Given the description of an element on the screen output the (x, y) to click on. 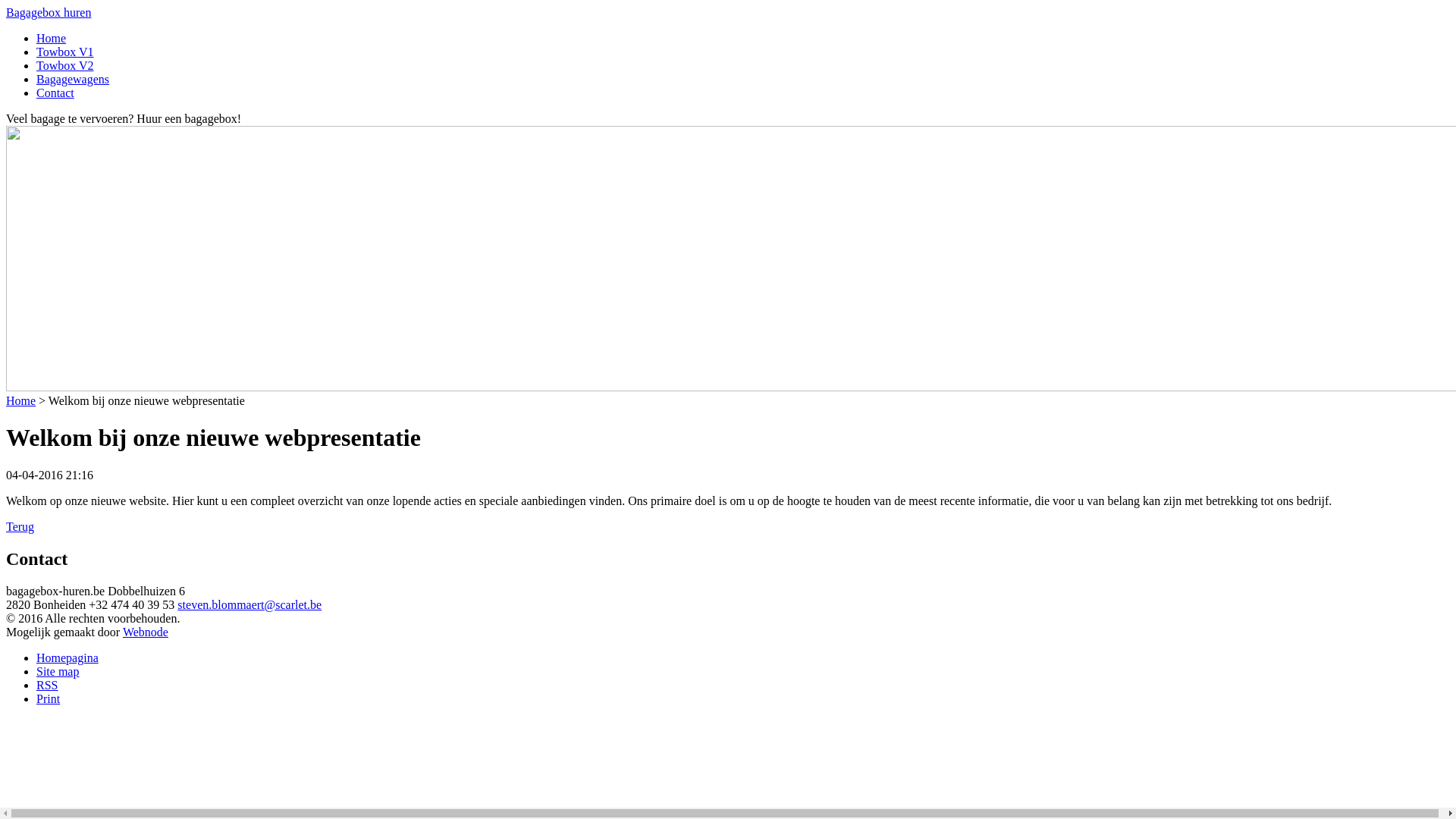
Bagagebox huren Element type: text (48, 12)
steven.blommaert@scarlet.be Element type: text (249, 604)
Towbox V1 Element type: text (64, 51)
Site map Element type: text (57, 671)
Towbox V2 Element type: text (64, 65)
Terug Element type: text (20, 526)
Bagagewagens Element type: text (72, 78)
Print Element type: text (47, 698)
Home Element type: text (20, 400)
Contact Element type: text (55, 92)
Homepagina Element type: text (67, 657)
Webnode Element type: text (145, 631)
Home Element type: text (50, 37)
RSS Element type: text (46, 684)
